Given the description of an element on the screen output the (x, y) to click on. 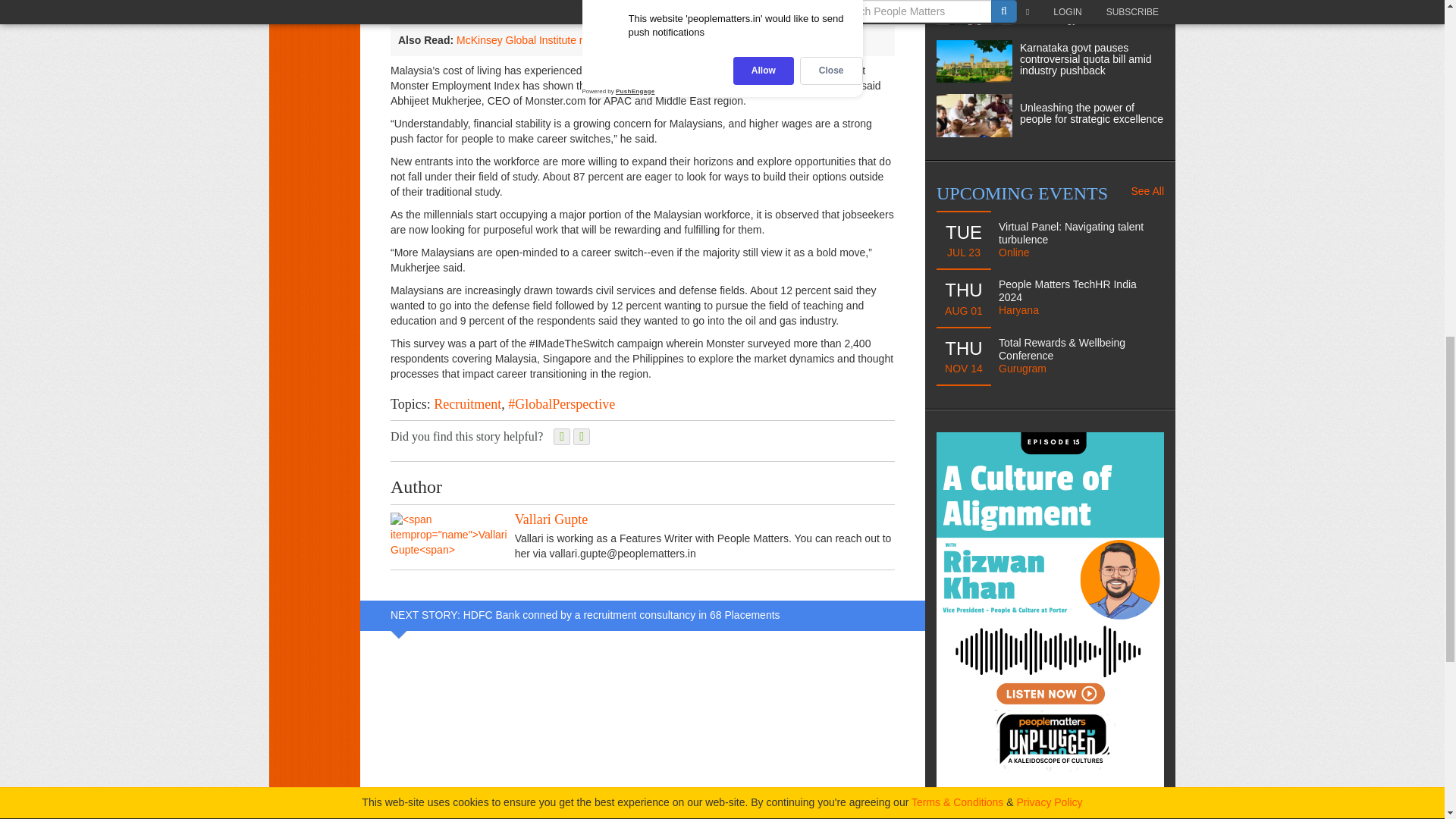
Recruitment (466, 403)
Browse more in: Recruitment (466, 403)
Browse more in: GlobalPerspective (561, 403)
